Given the description of an element on the screen output the (x, y) to click on. 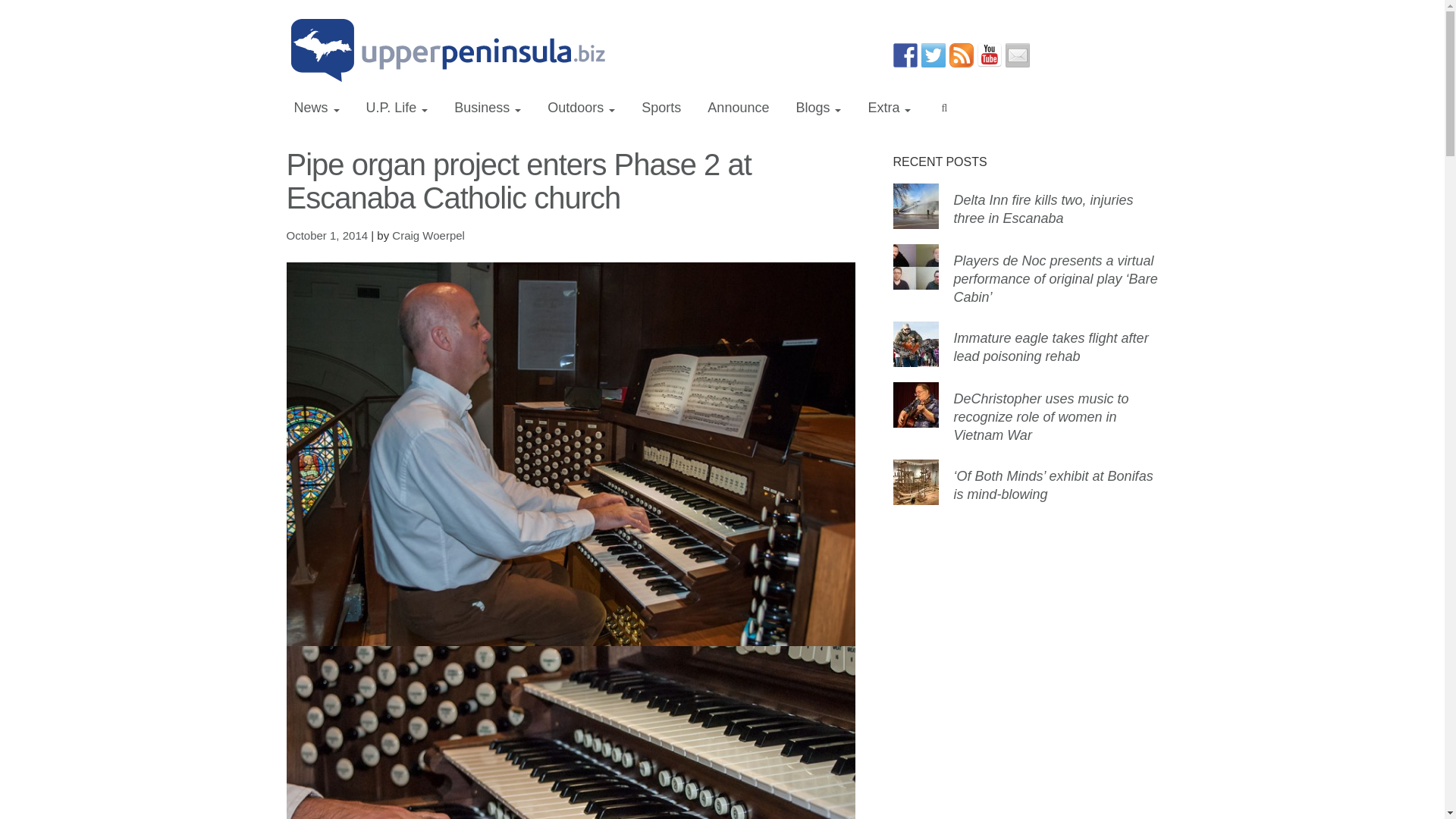
News (316, 107)
Contact Us (1017, 55)
Follow us on Twitter (932, 55)
U.P. Life (396, 107)
Subscribe to our RSS Feed (961, 55)
Find us on YouTube (988, 55)
Follow us on Facebook (905, 55)
Business (487, 107)
